Given the description of an element on the screen output the (x, y) to click on. 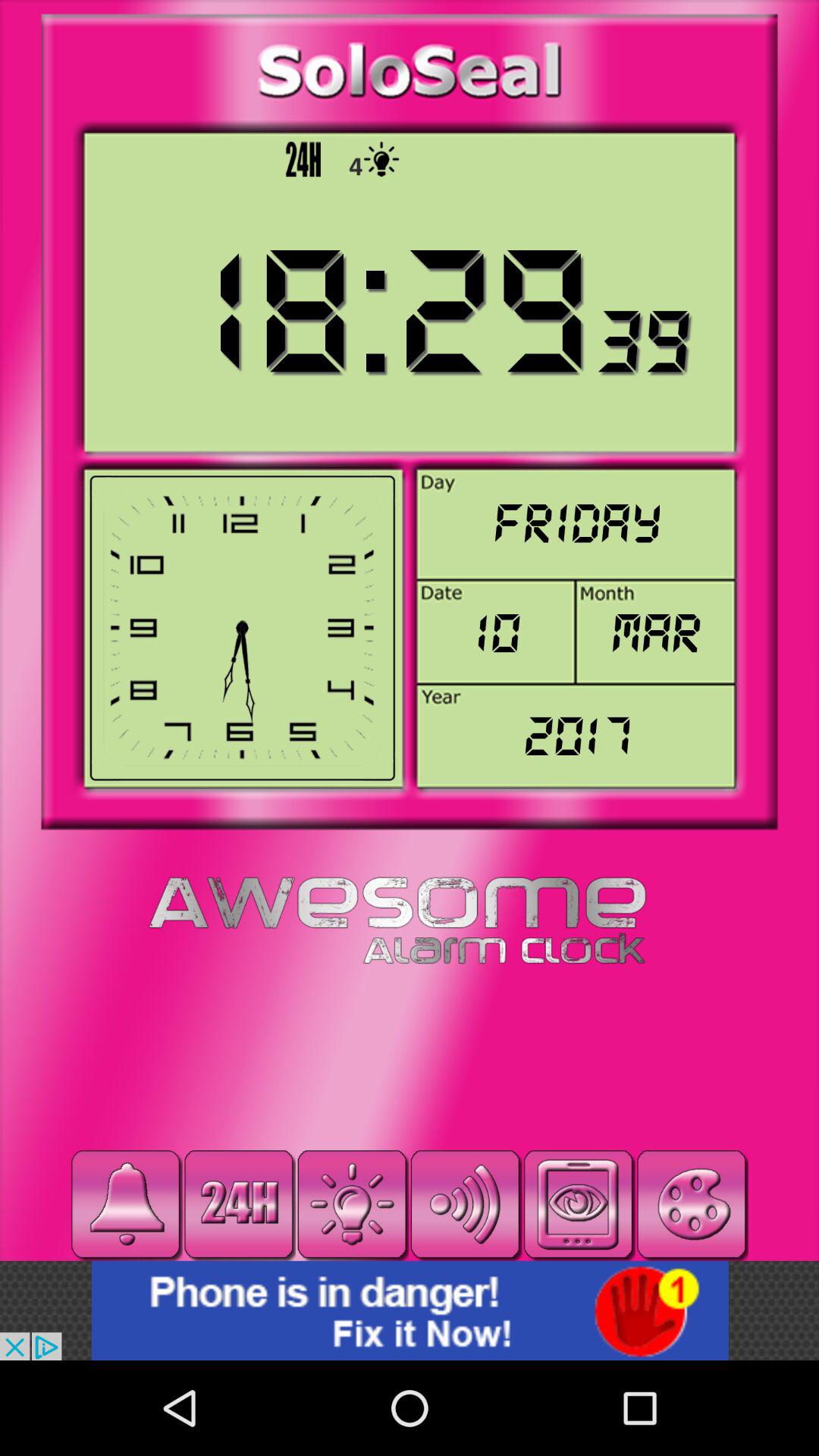
visited the advertised site/app (409, 1310)
